Given the description of an element on the screen output the (x, y) to click on. 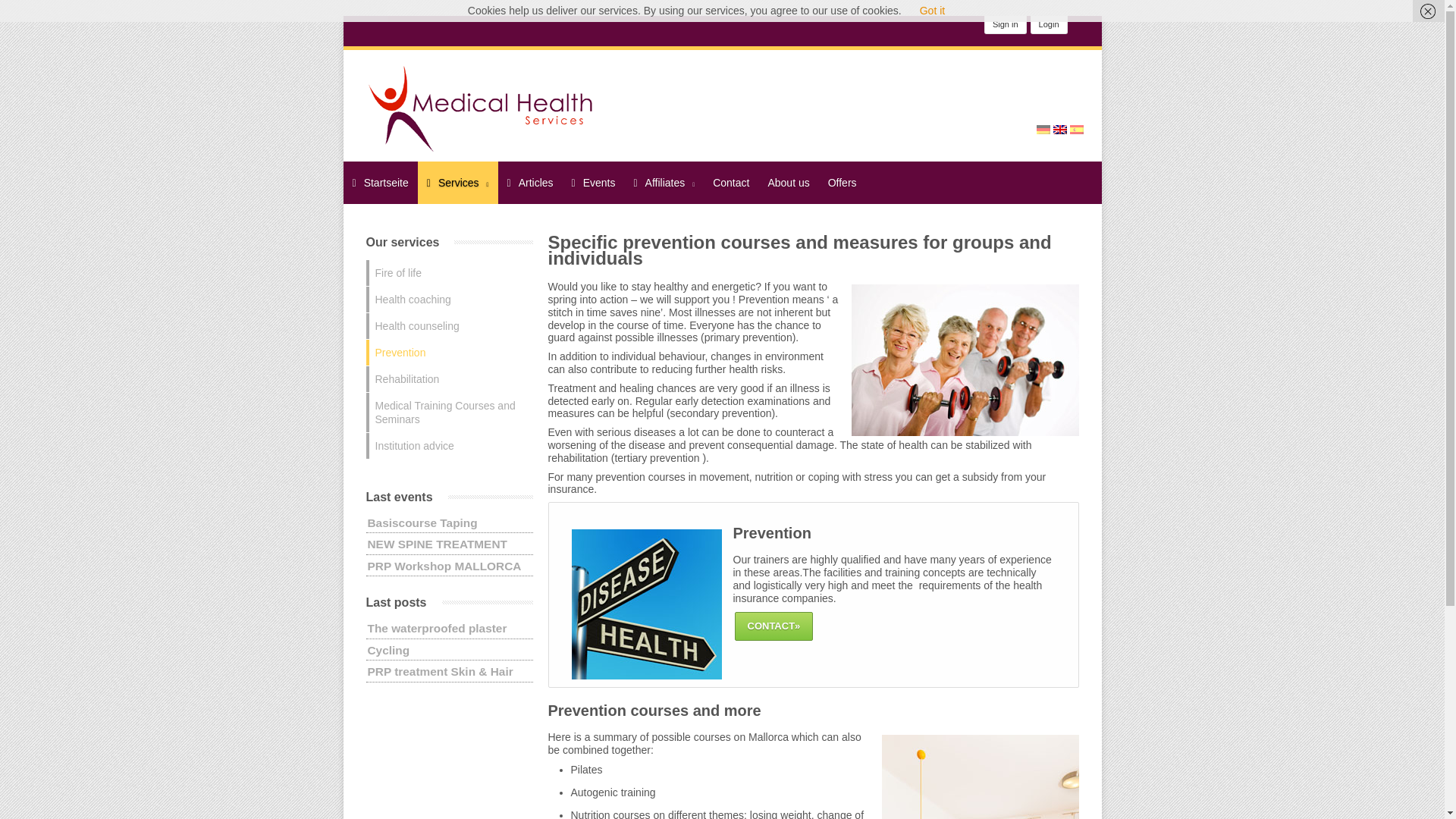
About us (788, 182)
PRP Workshop MALLORCA (443, 565)
Basiscourse Taping (421, 522)
Fire of life (448, 272)
Health counseling (448, 325)
Events (593, 182)
Services (457, 182)
NEW SPINE TREATMENT (436, 543)
The waterproofed plaster (436, 627)
Articles (529, 182)
